Given the description of an element on the screen output the (x, y) to click on. 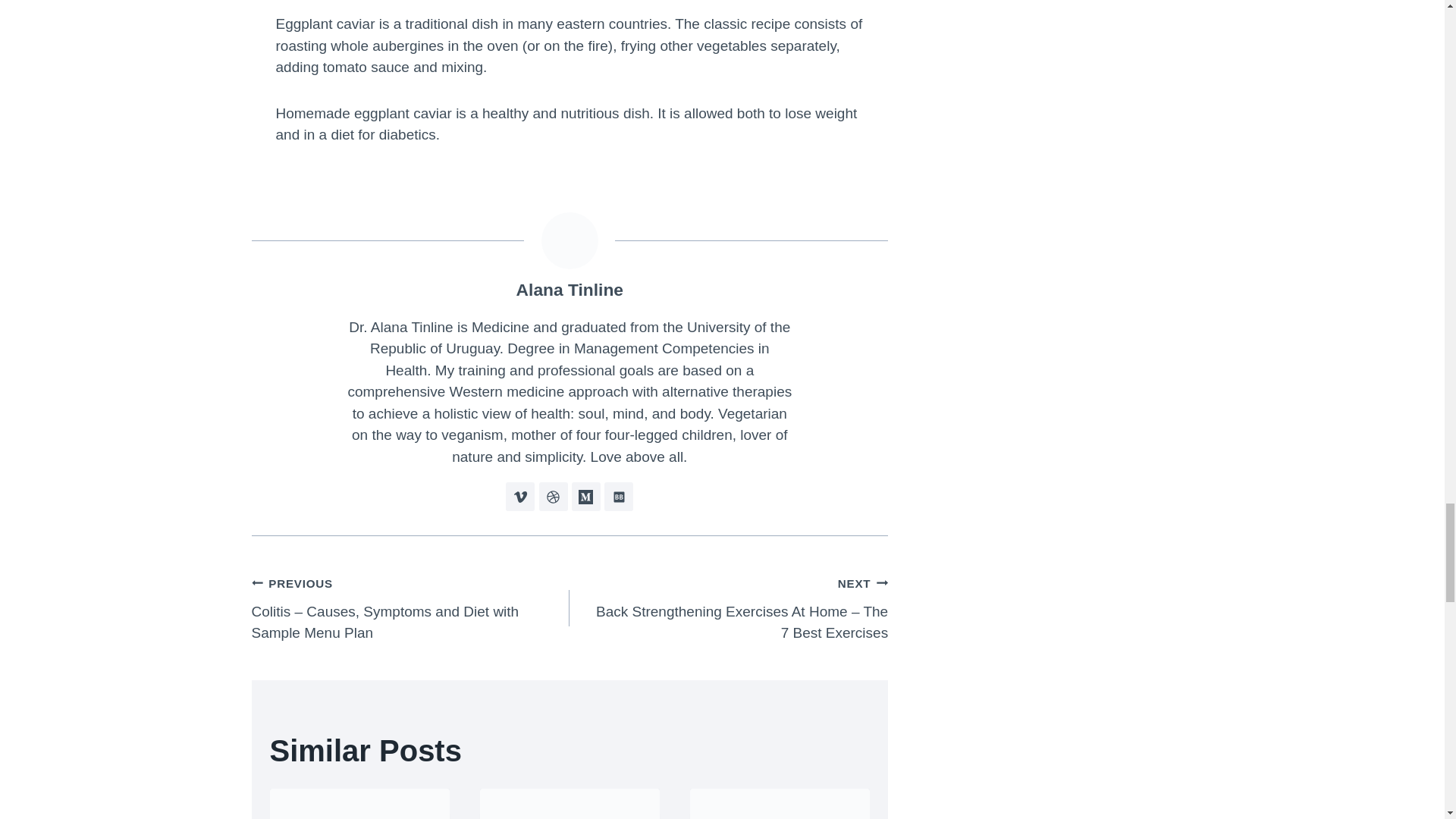
Follow Alana Tinline on Bookbub (618, 496)
Follow Alana Tinline on Medium (585, 496)
Follow Alana Tinline on Dribbble (552, 496)
Follow Alana Tinline on Vimeo (519, 496)
